Given the description of an element on the screen output the (x, y) to click on. 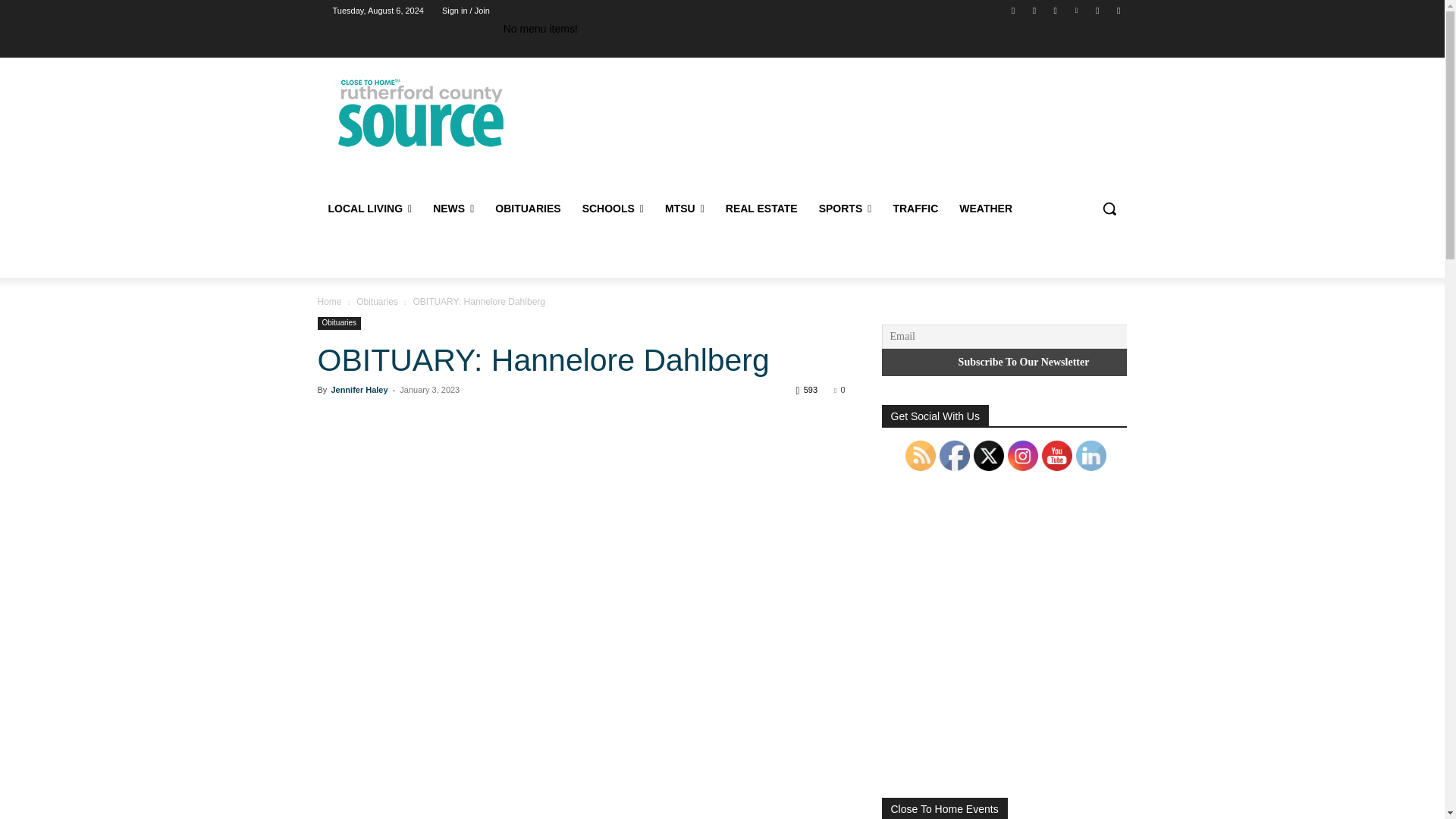
Twitter (1097, 9)
Instagram (1055, 9)
Linkedin (1075, 9)
Flipboard (1034, 9)
Youtube (1117, 9)
Facebook (1013, 9)
Subscribe To Our Newsletter (1023, 361)
